Given the description of an element on the screen output the (x, y) to click on. 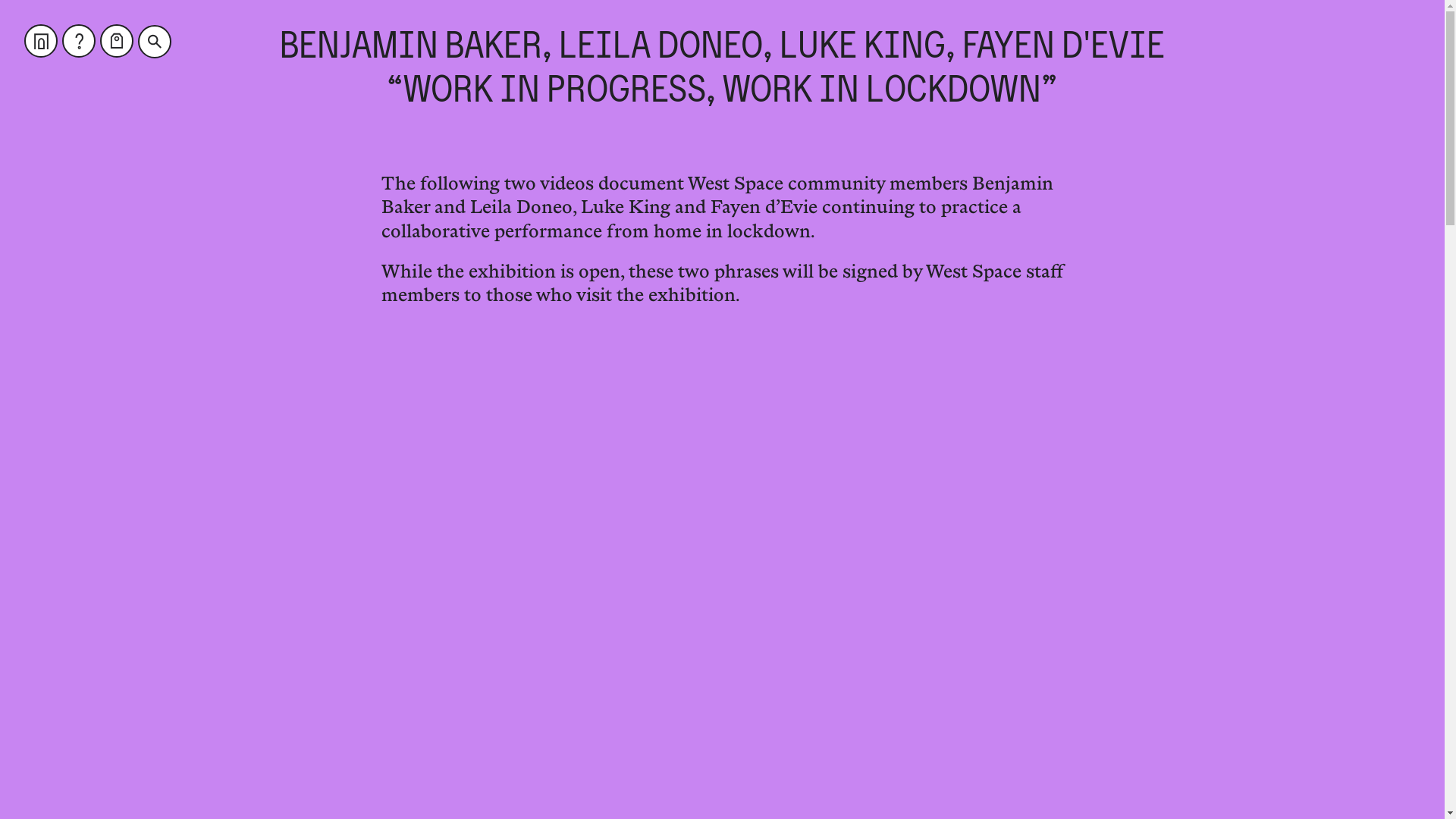
WORK IN PROGRESS, WORK IN LOCKDOWN Element type: text (722, 88)
